Given the description of an element on the screen output the (x, y) to click on. 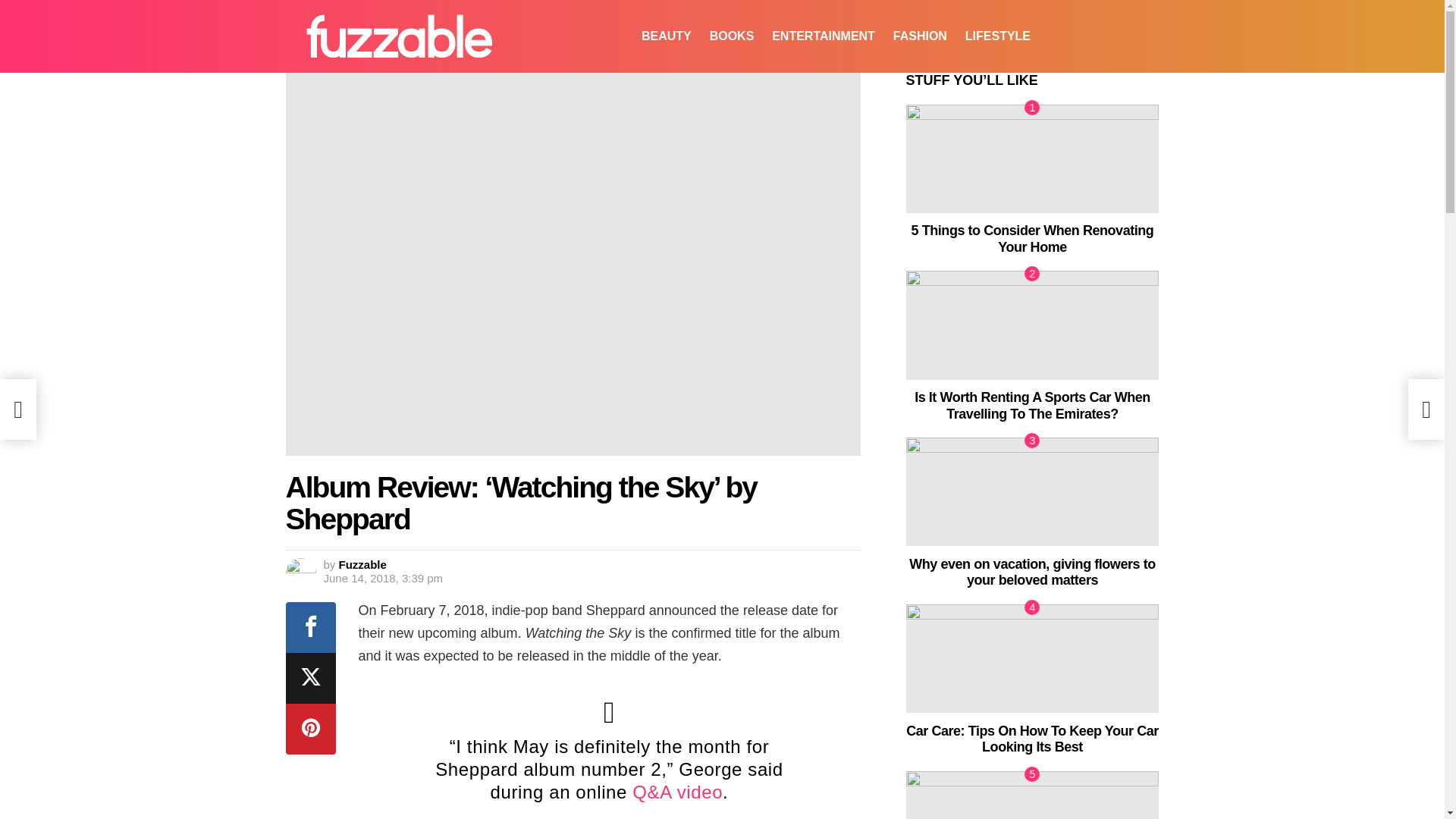
Posts by Fuzzable (363, 563)
Fuzzable (363, 563)
BEAUTY (665, 36)
ENTERTAINMENT (823, 36)
LIFESTYLE (998, 36)
Why even on vacation, giving flowers to your beloved matters (1031, 491)
5 Things to Consider When Renovating Your Home (1031, 158)
FASHION (920, 36)
Car Care: Tips On How To Keep Your Car Looking Its Best (1031, 658)
